Given the description of an element on the screen output the (x, y) to click on. 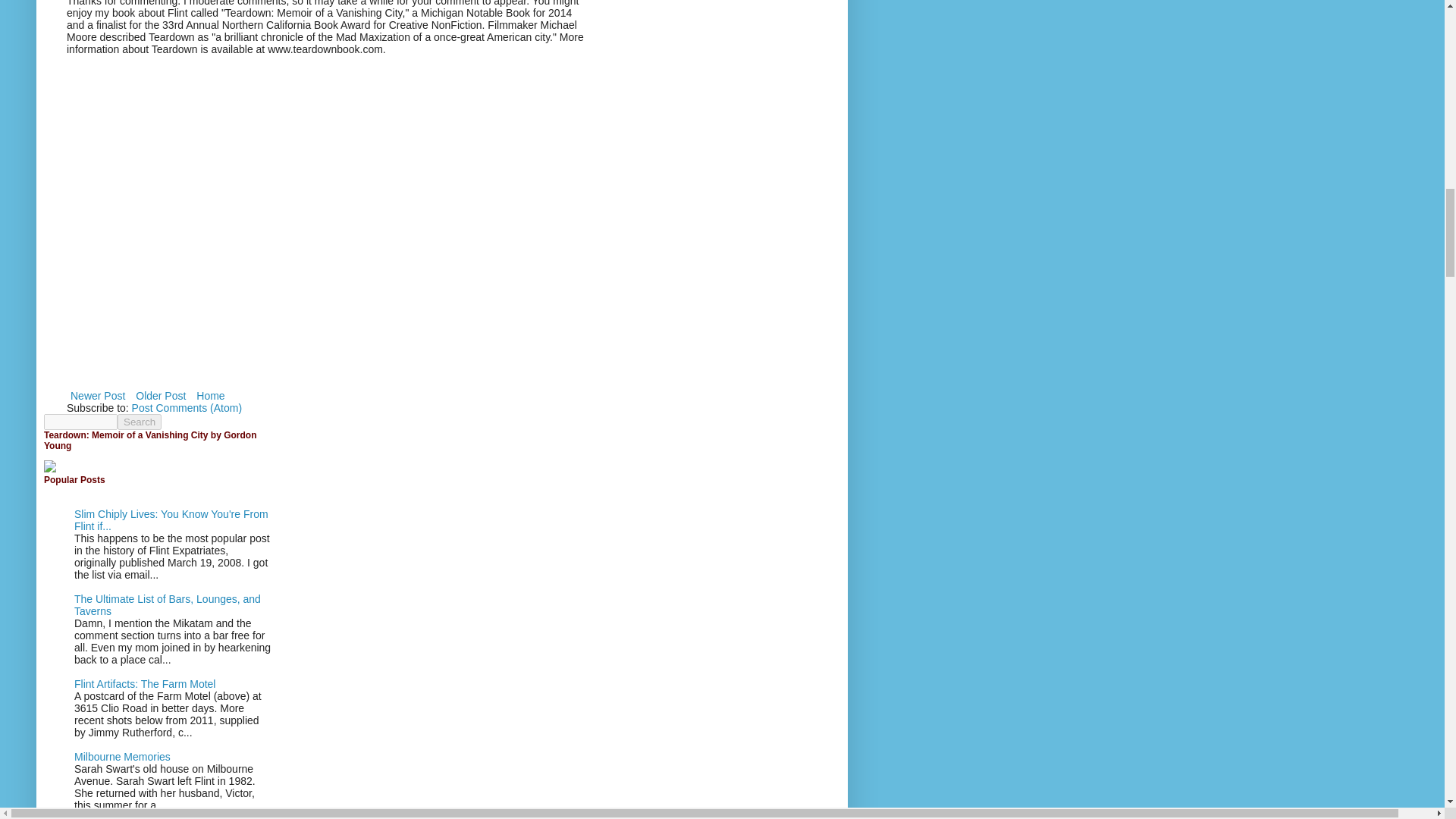
Older Post (160, 395)
Newer Post (97, 395)
Home (210, 395)
The Ultimate List of Bars, Lounges, and Taverns (167, 604)
Newer Post (97, 395)
search (139, 421)
Older Post (160, 395)
Flint Artifacts: The Farm Motel (144, 684)
Search (139, 421)
The Mikatam (104, 815)
Slim Chiply Lives: You Know You're From Flint if... (170, 519)
Milbourne Memories (122, 756)
Search (139, 421)
search (80, 421)
Search (139, 421)
